Given the description of an element on the screen output the (x, y) to click on. 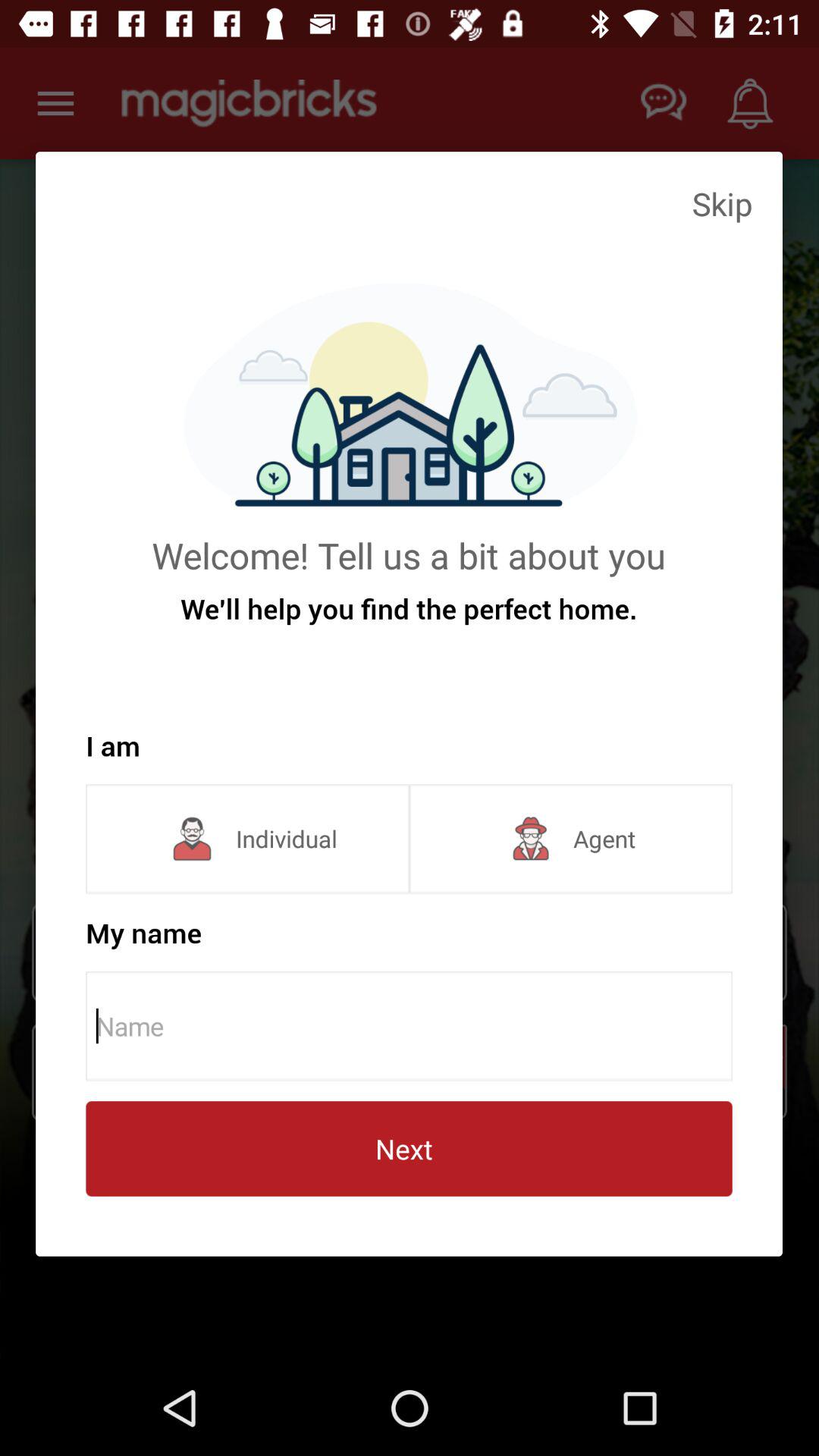
enter your name (414, 1026)
